Given the description of an element on the screen output the (x, y) to click on. 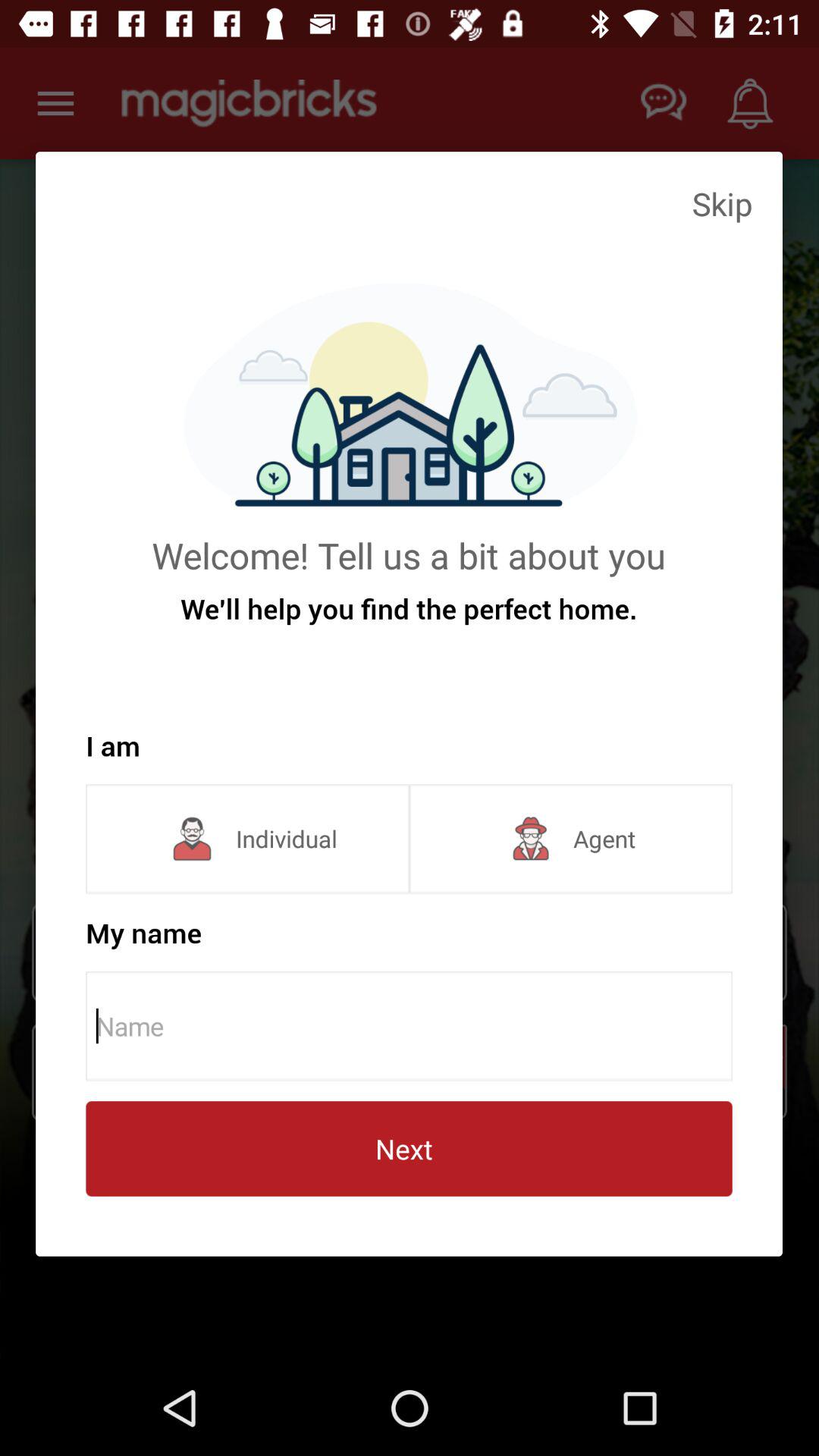
enter your name (414, 1026)
